Given the description of an element on the screen output the (x, y) to click on. 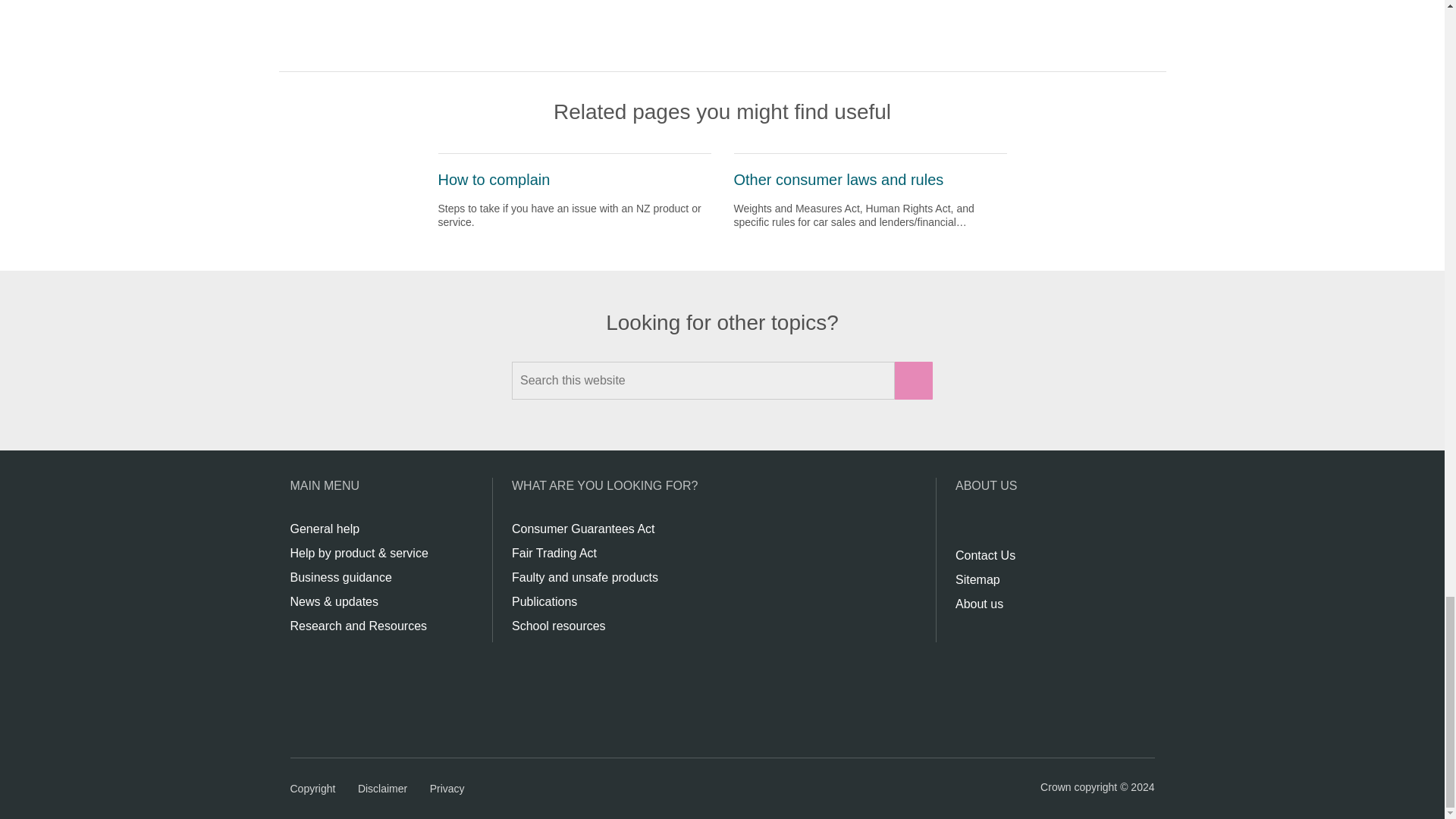
Consumer Protection on Facebook (963, 530)
Consumer Protection on Instagram (983, 530)
Ministry of Business, Innovation and Employment (389, 697)
Consumer Protection on YouTube (1014, 530)
